Given the description of an element on the screen output the (x, y) to click on. 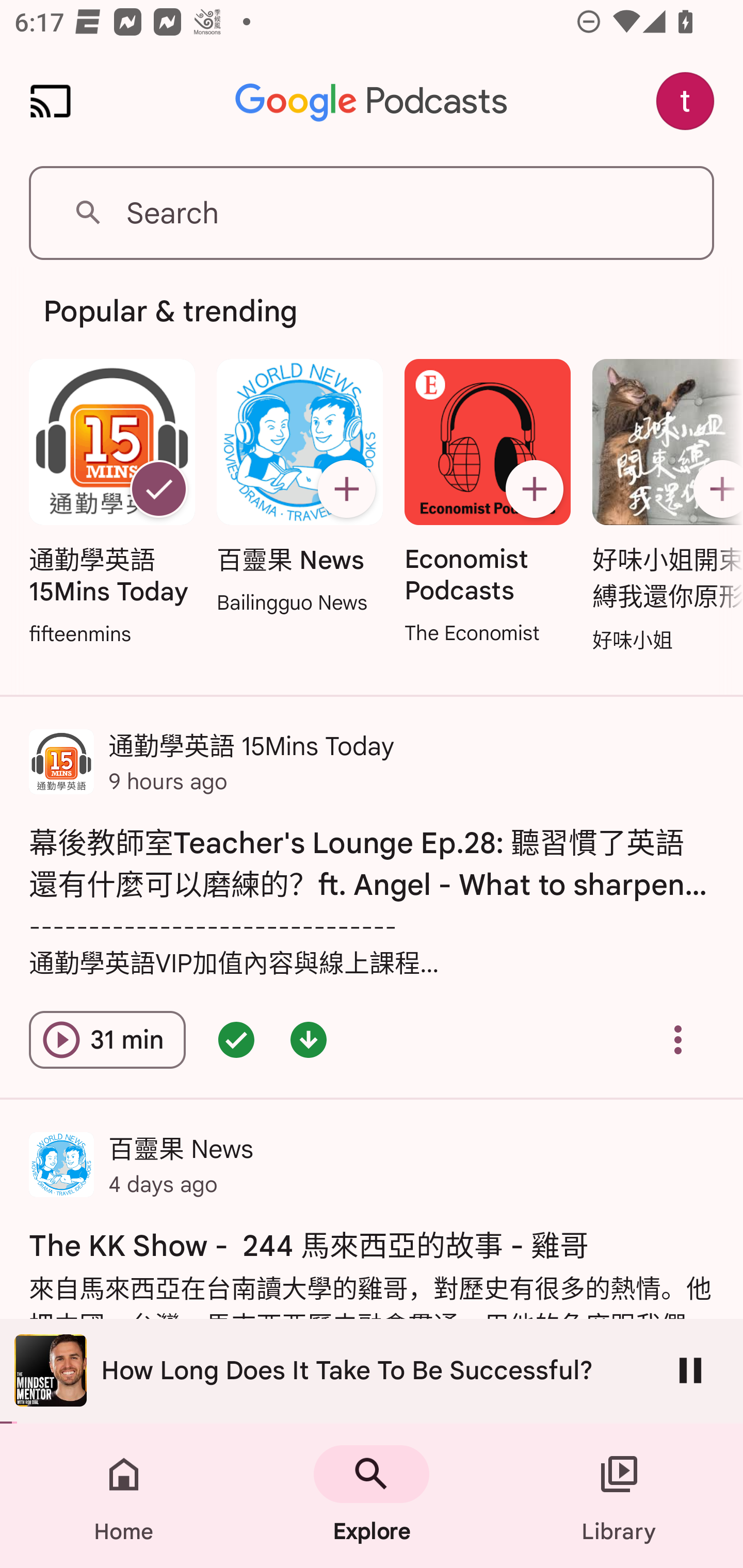
Cast. Disconnected (50, 101)
Search (371, 212)
百靈果 News Subscribe 百靈果 News Bailingguo News (299, 488)
好味小姐開束縛我還你原形 Subscribe 好味小姐開束縛我還你原形 好味小姐 (662, 507)
Unsubscribe (158, 489)
Subscribe (346, 489)
Subscribe (534, 489)
Subscribe (714, 489)
Episode queued - double tap for options (235, 1040)
Episode downloaded - double tap for options (308, 1040)
Overflow menu (677, 1040)
Pause (690, 1370)
Home (123, 1495)
Library (619, 1495)
